Given the description of an element on the screen output the (x, y) to click on. 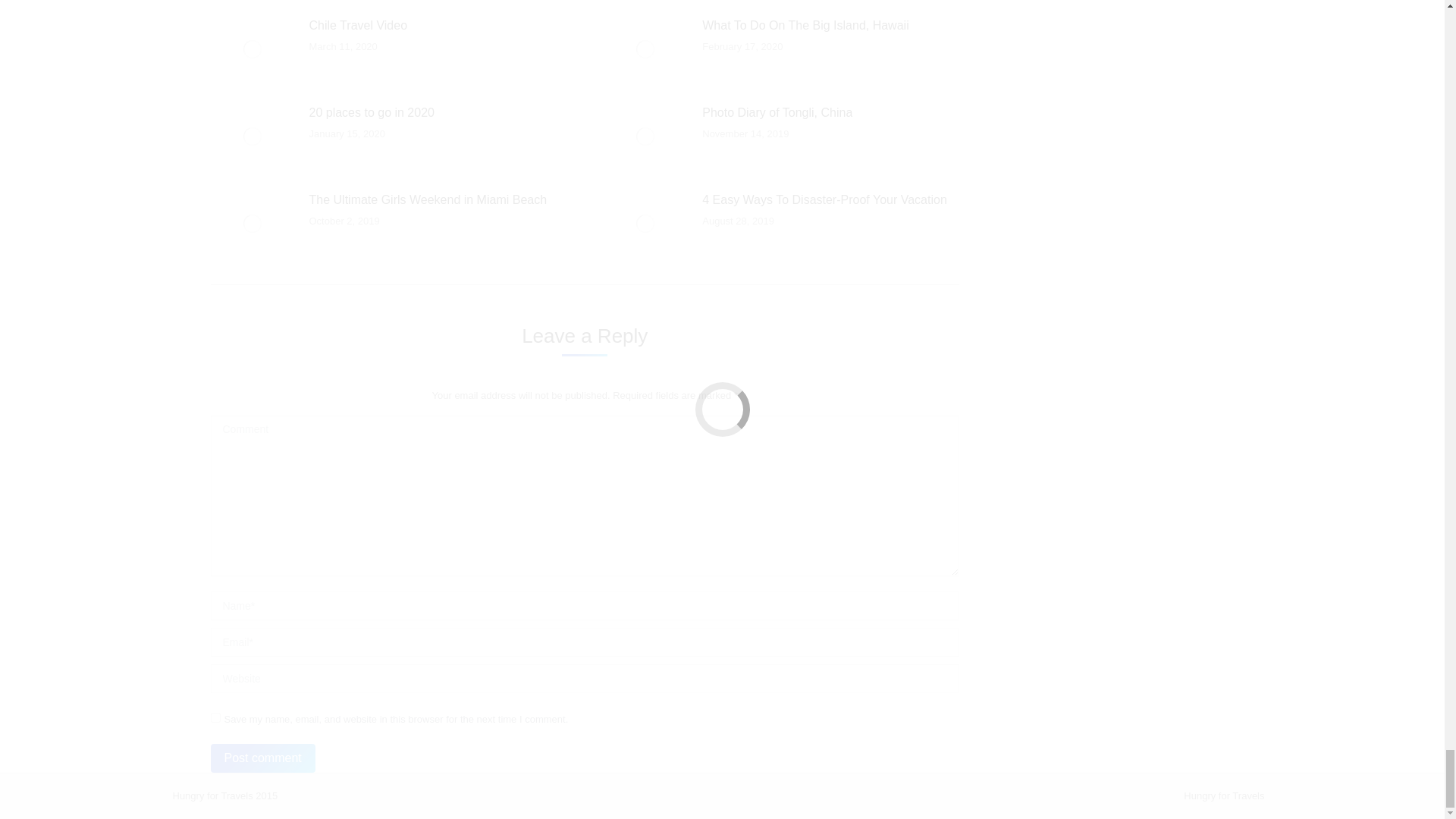
yes (216, 717)
